Given the description of an element on the screen output the (x, y) to click on. 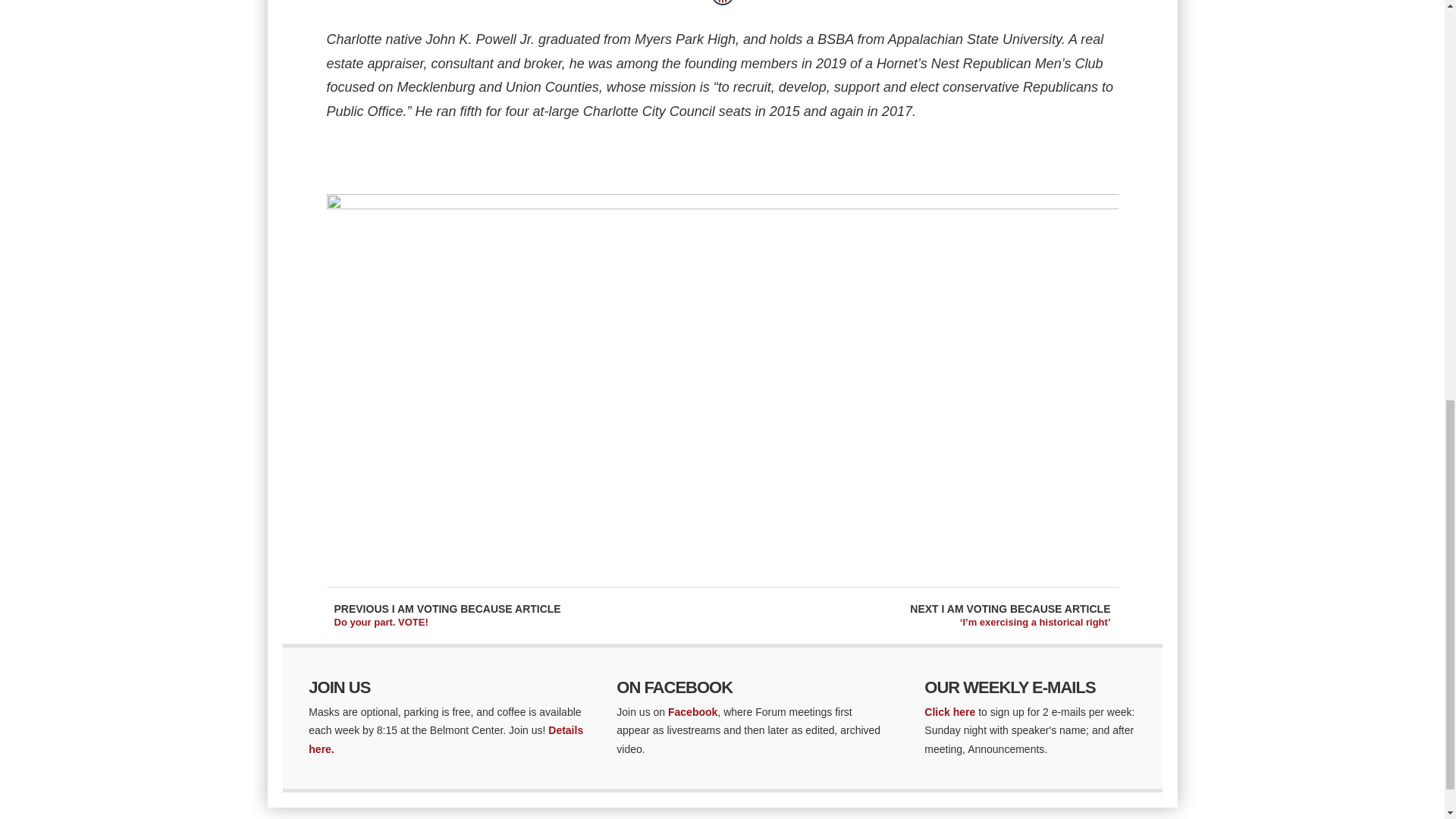
Details here. (445, 739)
Click here (949, 711)
Do your part. VOTE! (380, 622)
Facebook (692, 711)
